Given the description of an element on the screen output the (x, y) to click on. 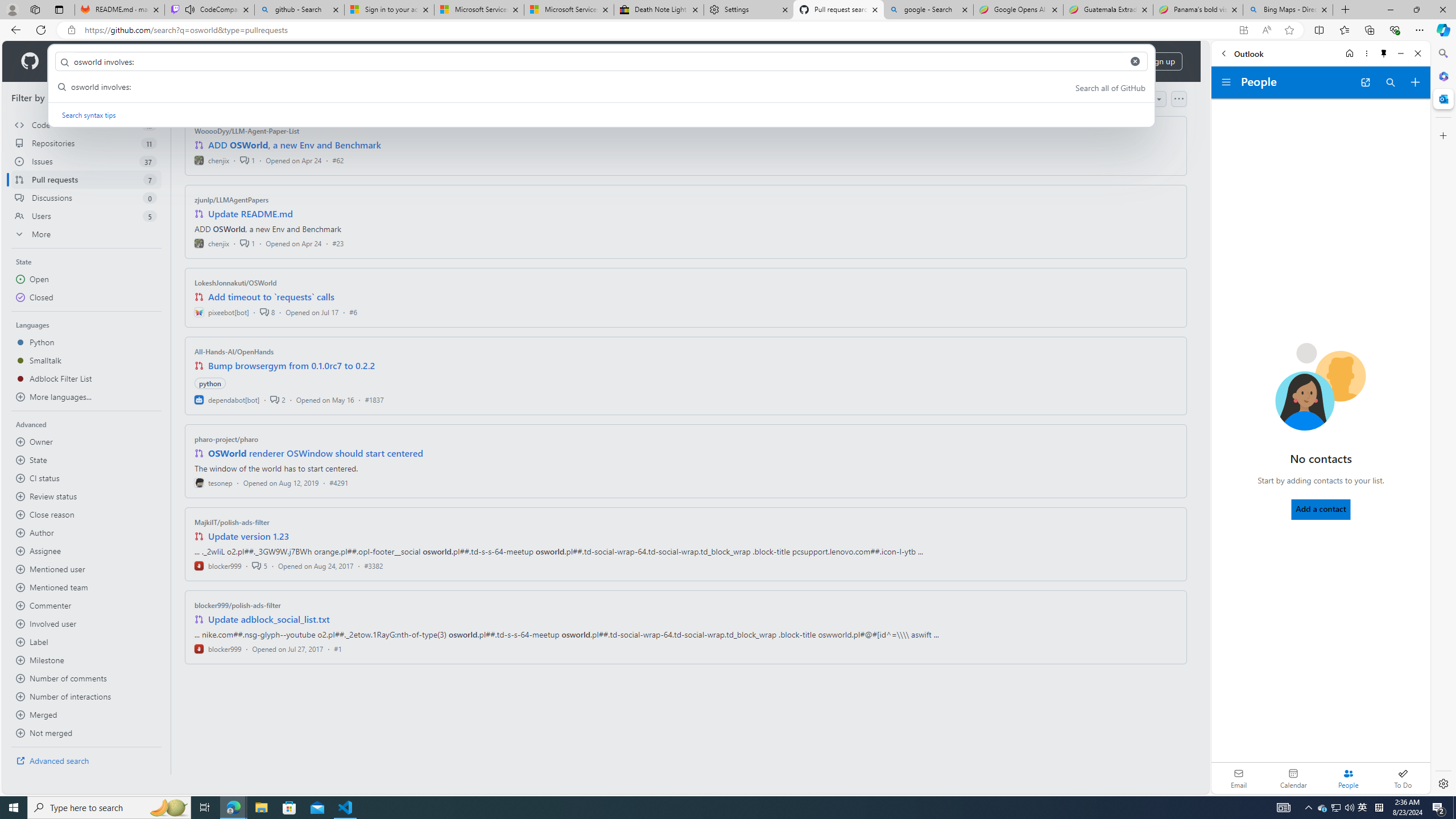
8 (267, 311)
Update README.md (250, 213)
WooooDyy/LLM-Agent-Paper-List (247, 130)
Mute tab (189, 8)
